Given the description of an element on the screen output the (x, y) to click on. 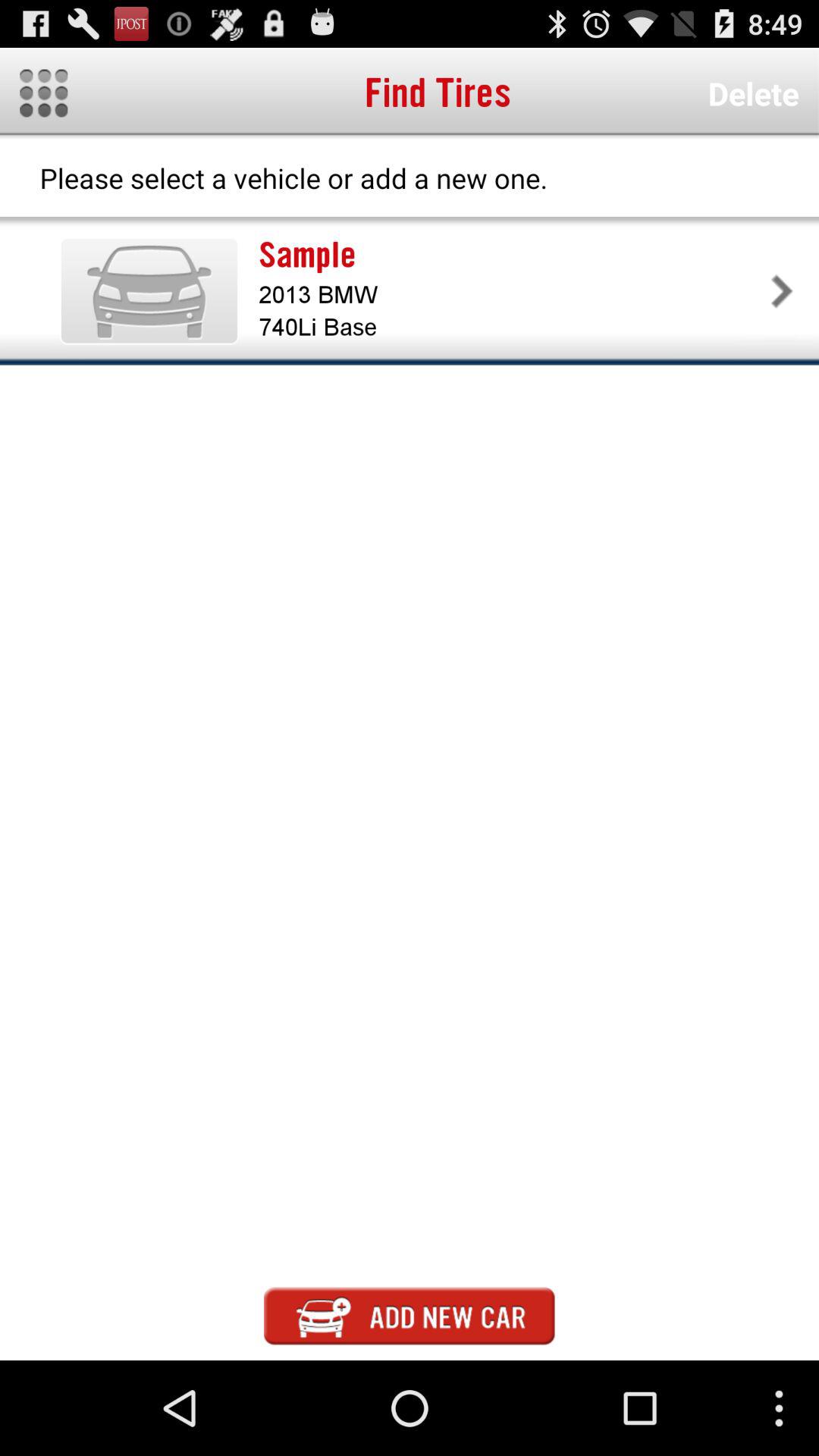
swipe to 2013 bmw icon (511, 294)
